Given the description of an element on the screen output the (x, y) to click on. 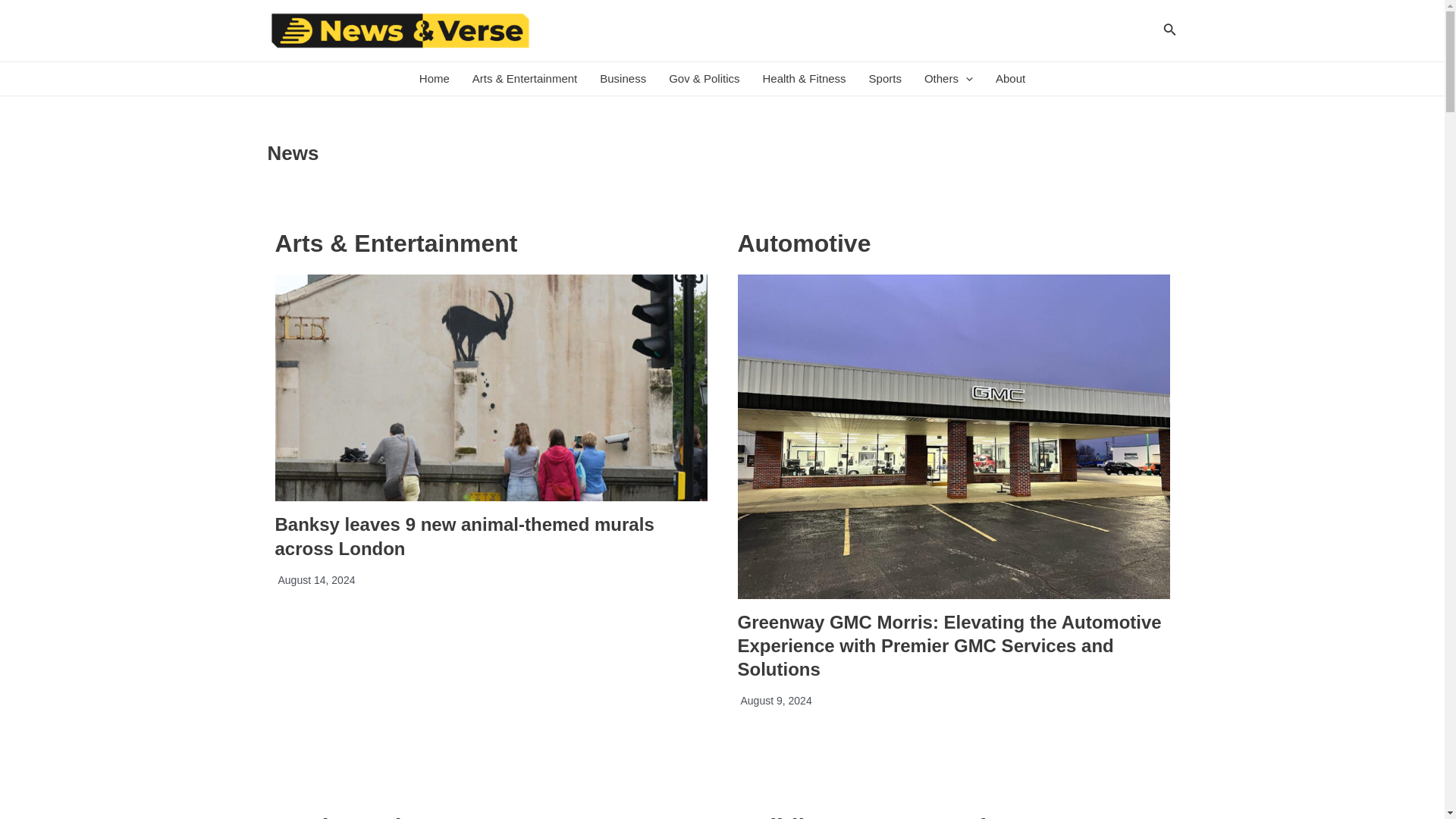
About (1010, 78)
Others (948, 78)
Sports (884, 78)
Business (623, 78)
Home (434, 78)
